Given the description of an element on the screen output the (x, y) to click on. 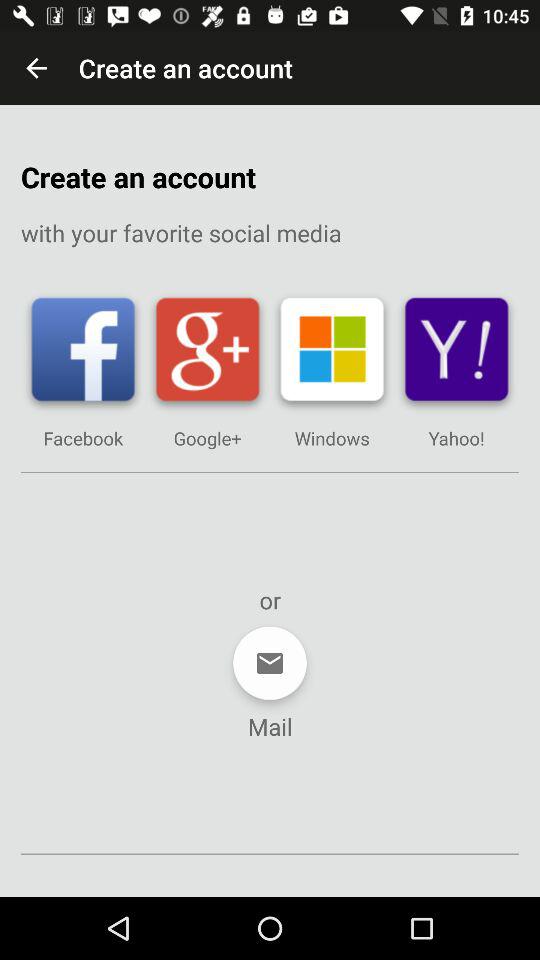
open the app next to create an account icon (36, 68)
